Given the description of an element on the screen output the (x, y) to click on. 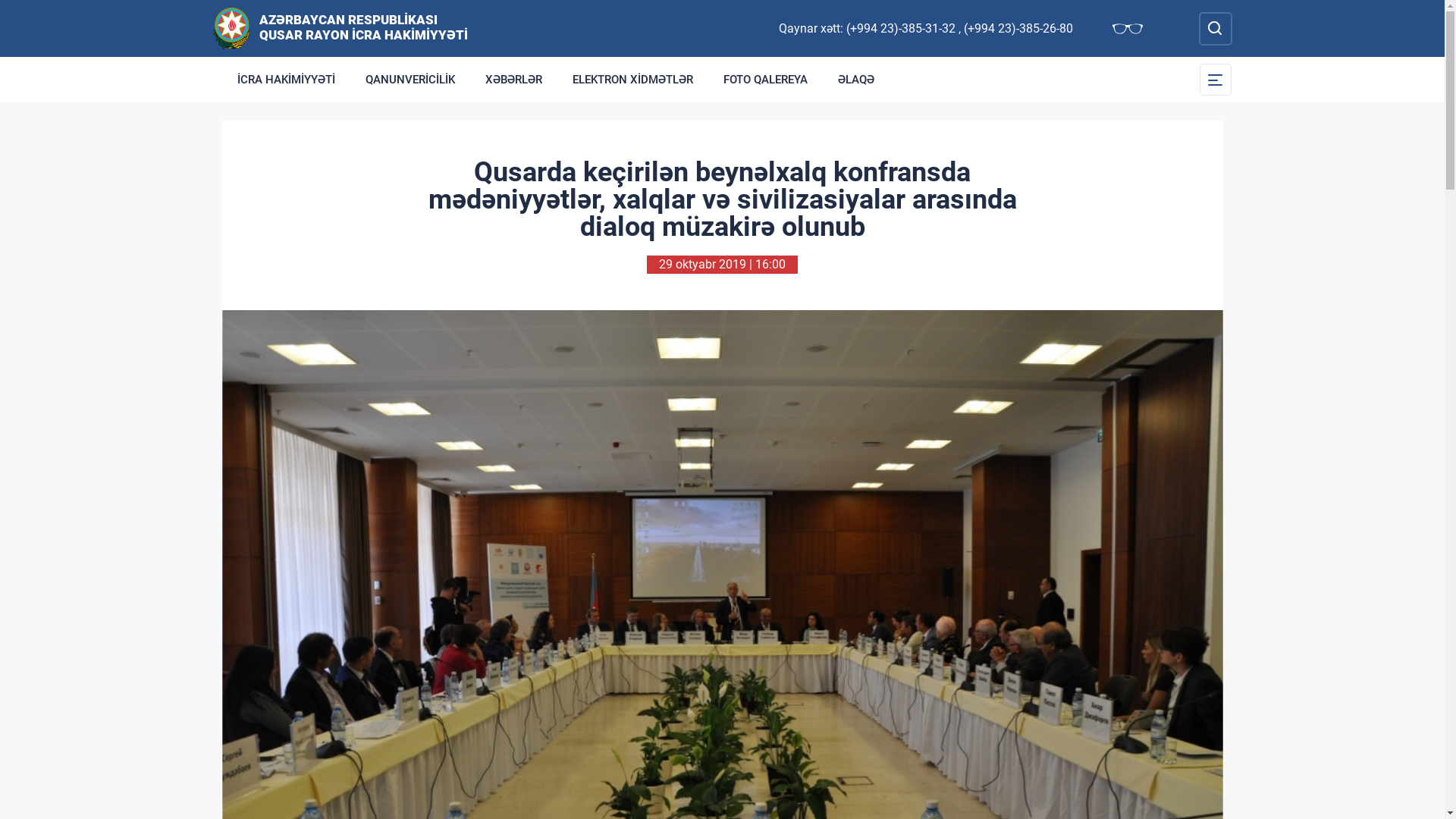
FOTO QALEREYA Element type: text (765, 79)
QANUNVERICILIK Element type: text (410, 79)
